Given the description of an element on the screen output the (x, y) to click on. 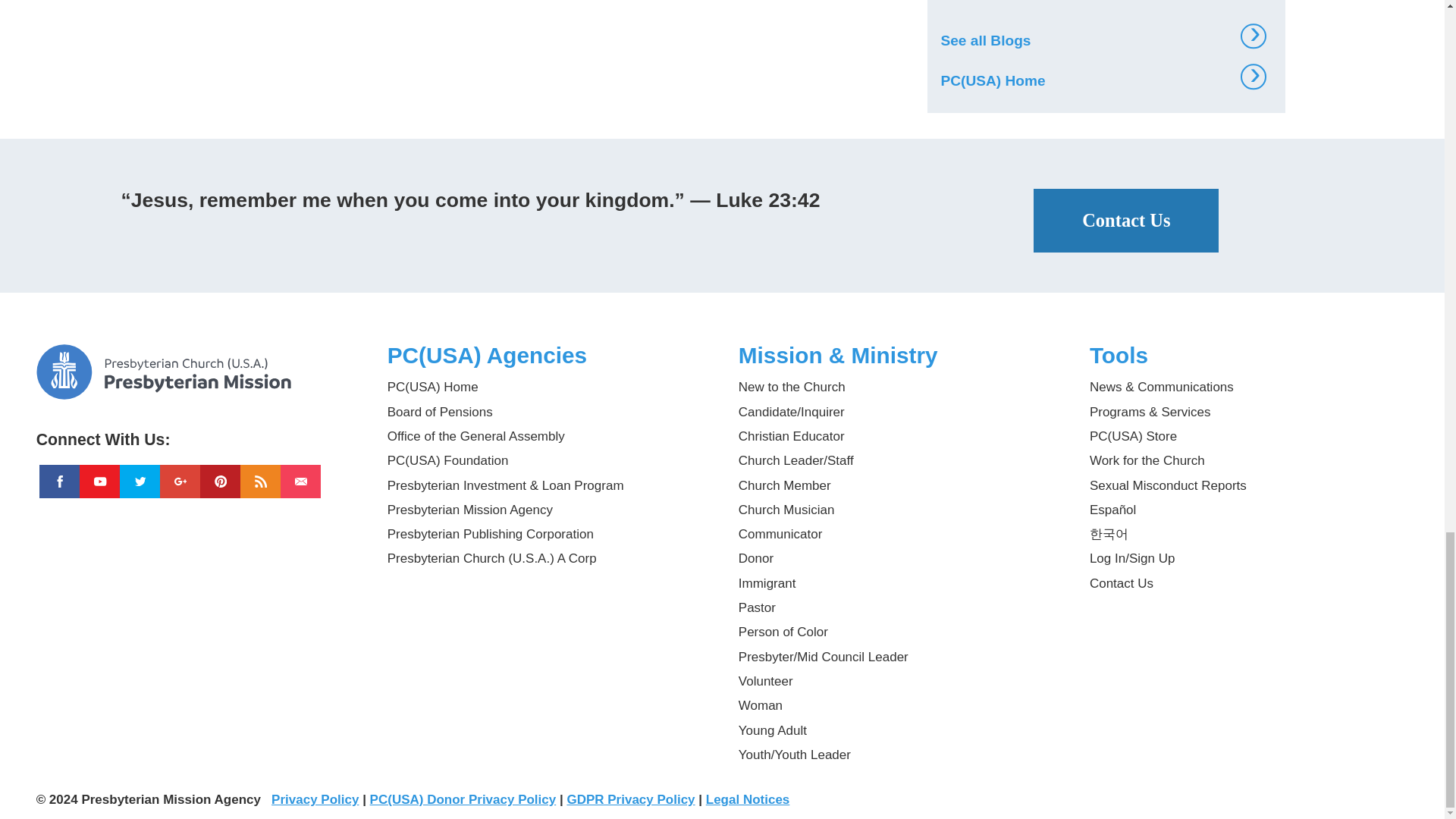
Follow Us on Social Media (195, 433)
